Given the description of an element on the screen output the (x, y) to click on. 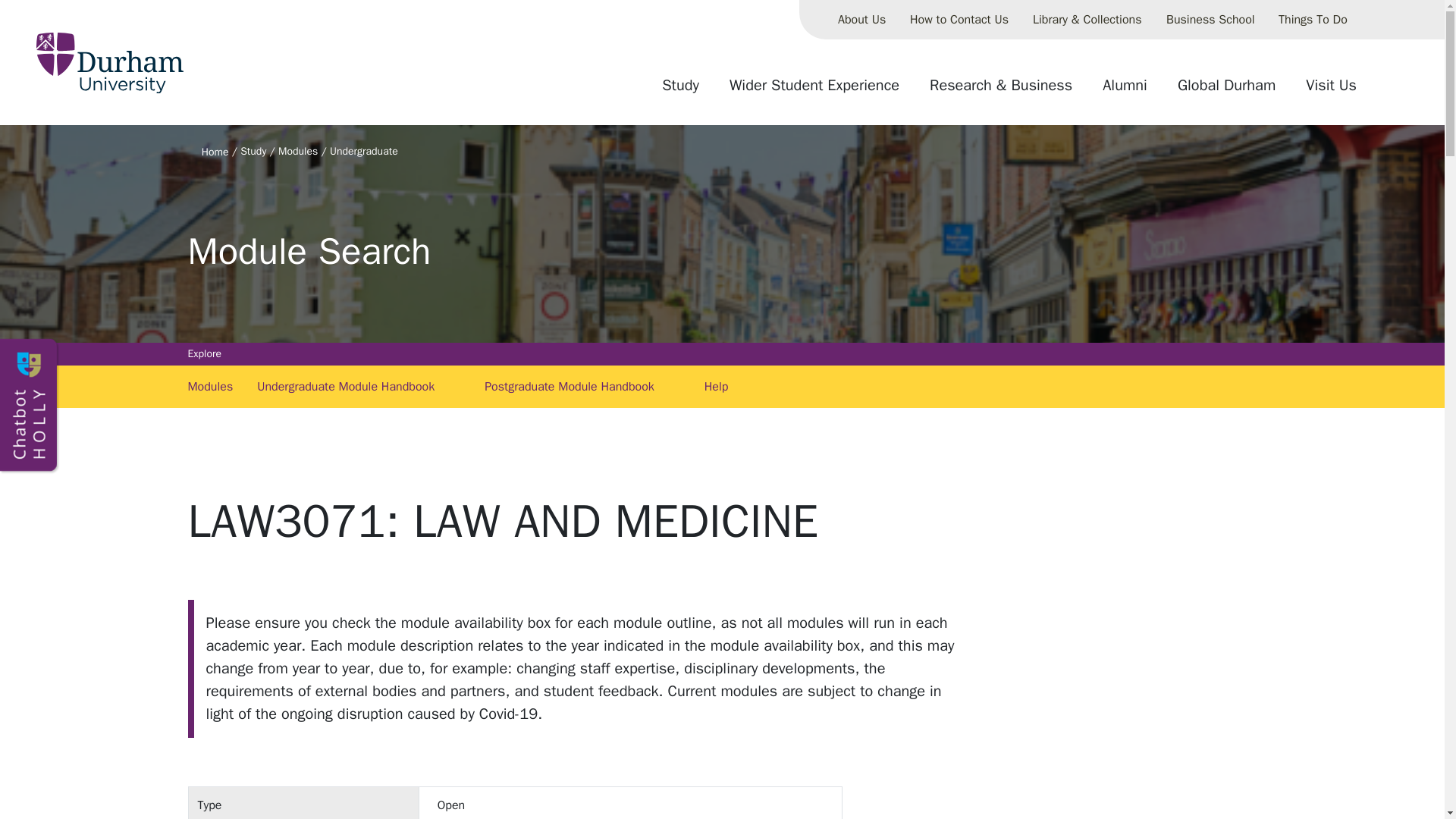
About Us (861, 19)
Business School (1210, 19)
How to Contact Us (959, 19)
Visit Us (1331, 91)
Study (680, 91)
Wider Student Experience (814, 91)
Things To Do (1312, 19)
Alumni (1124, 91)
Global Durham (1226, 91)
